Given the description of an element on the screen output the (x, y) to click on. 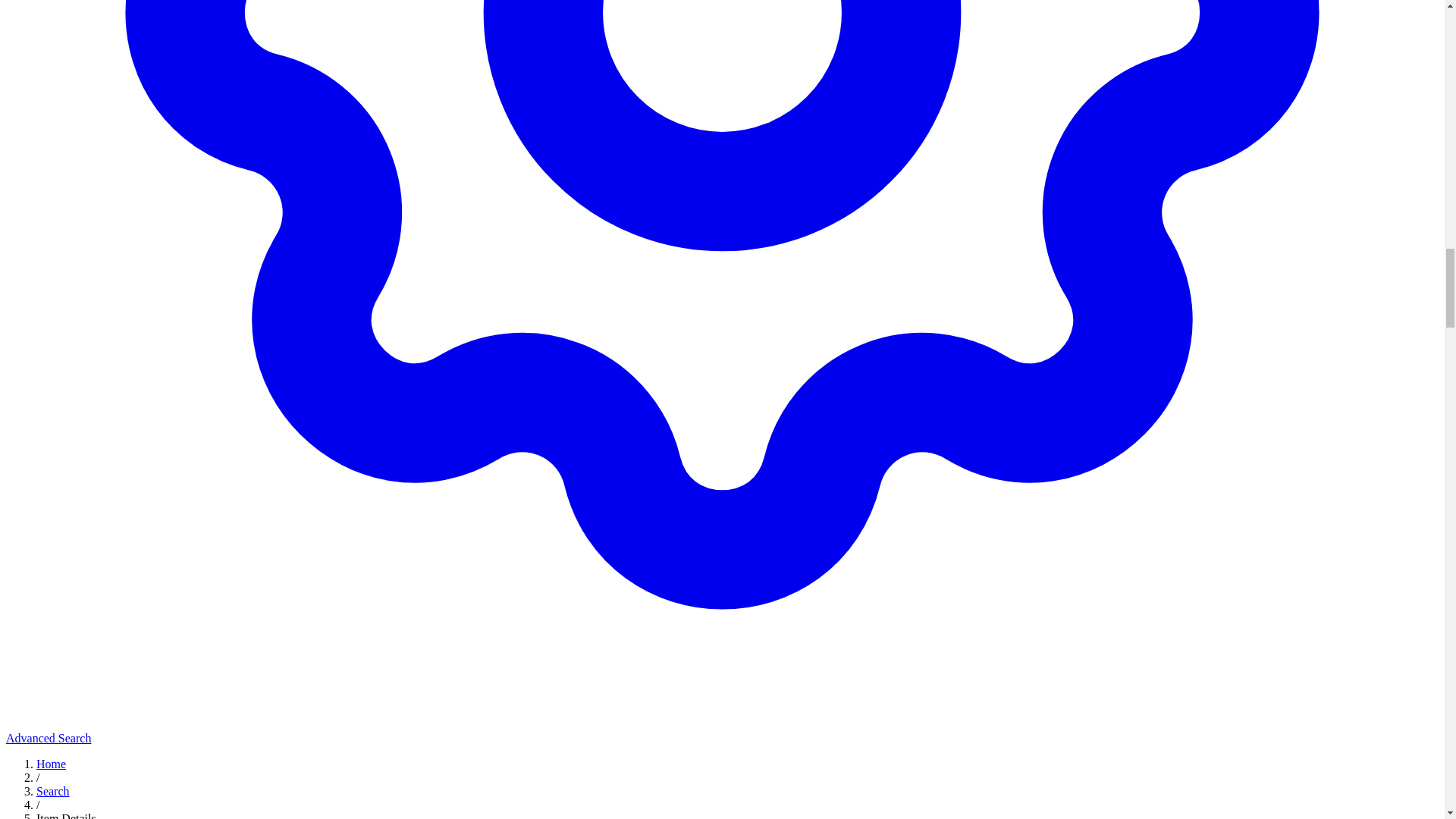
Home (50, 763)
Search (52, 790)
